Given the description of an element on the screen output the (x, y) to click on. 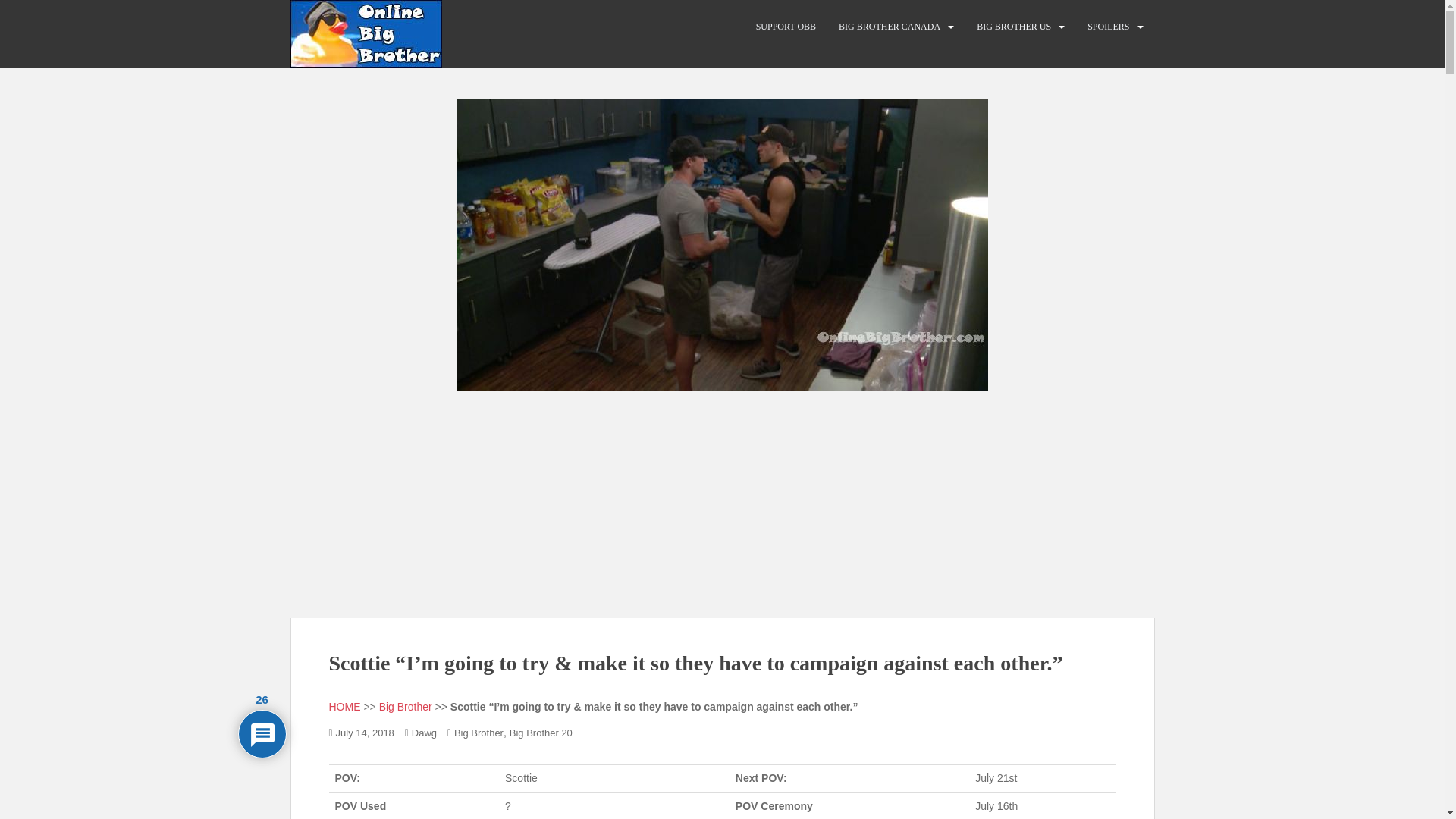
BIG BROTHER US (1013, 26)
SUPPORT OBB (785, 26)
BIG BROTHER CANADA (889, 26)
